Given the description of an element on the screen output the (x, y) to click on. 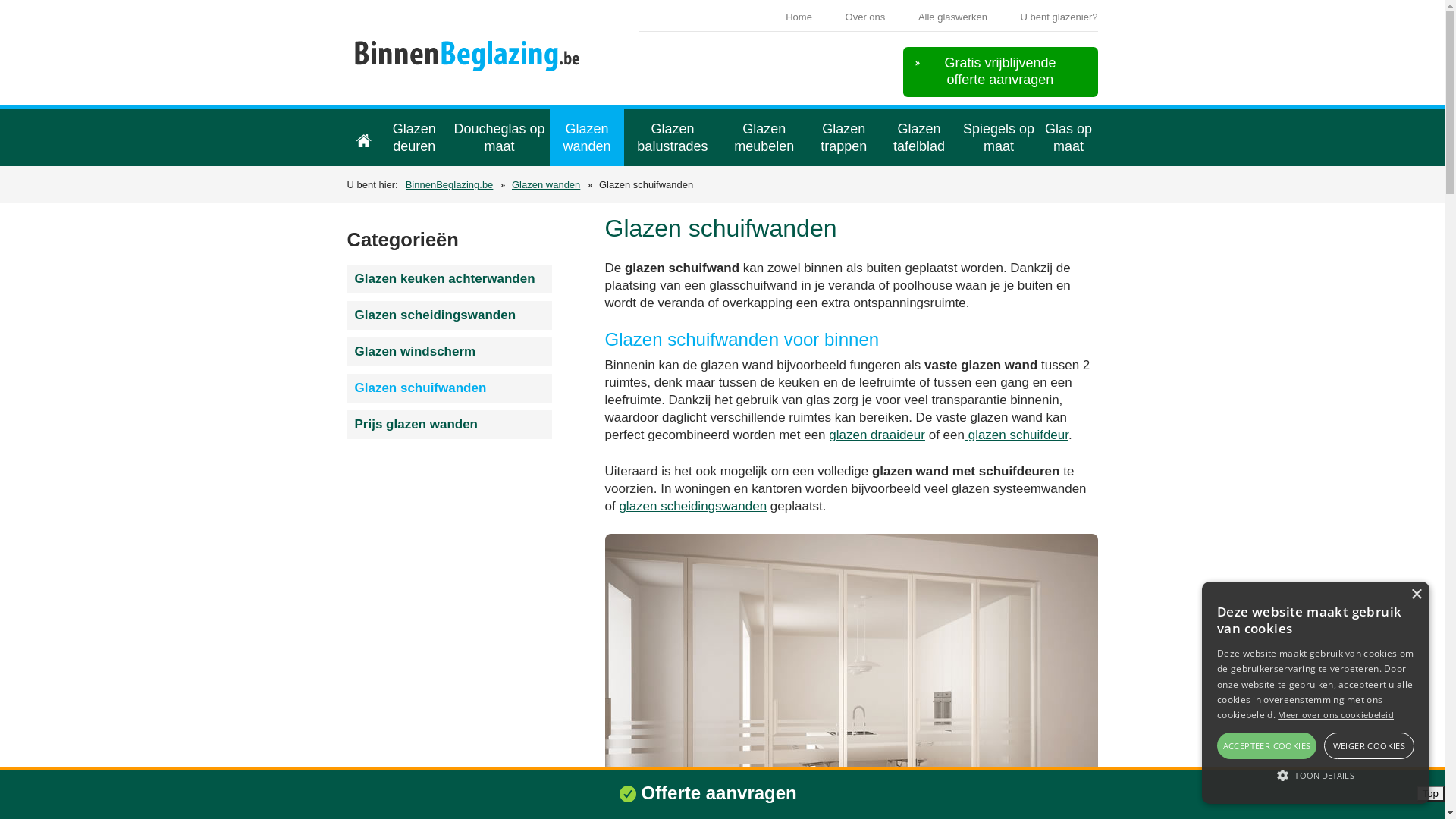
Glazen wanden Element type: text (545, 184)
Glazen balustrades Element type: text (672, 137)
Home Element type: text (363, 137)
glazen draaideur Element type: text (876, 434)
Glazen tafelblad Element type: text (919, 137)
Glas op maat Element type: text (1068, 137)
Home Element type: text (798, 16)
Top Element type: text (1430, 793)
Over ons Element type: text (865, 16)
Glazen scheidingswanden Element type: text (449, 315)
glazen schuifdeur Element type: text (1016, 434)
Gratis vrijblijvende offerte aanvragen Element type: text (999, 72)
Glazen meubelen Element type: text (764, 137)
glazen scheidingswanden Element type: text (692, 505)
Offerte aanvragen Element type: text (718, 792)
Glazen windscherm Element type: text (449, 351)
Glazen schuifwanden Element type: text (449, 387)
Alle glaswerken Element type: text (952, 16)
Doucheglas op maat Element type: text (498, 137)
Prijs glazen wanden Element type: text (449, 424)
U bent glazenier? Element type: text (1059, 16)
BinnenBeglazing.be Element type: hover (468, 60)
BinnenBeglazing.be Element type: text (449, 184)
Glazen trappen Element type: text (843, 137)
Glazen deuren Element type: text (413, 137)
Spiegels op maat Element type: text (998, 137)
Glazen keuken achterwanden Element type: text (449, 278)
Meer over ons cookiebeleid Element type: text (1335, 714)
Glazen wanden Element type: text (586, 137)
